Given the description of an element on the screen output the (x, y) to click on. 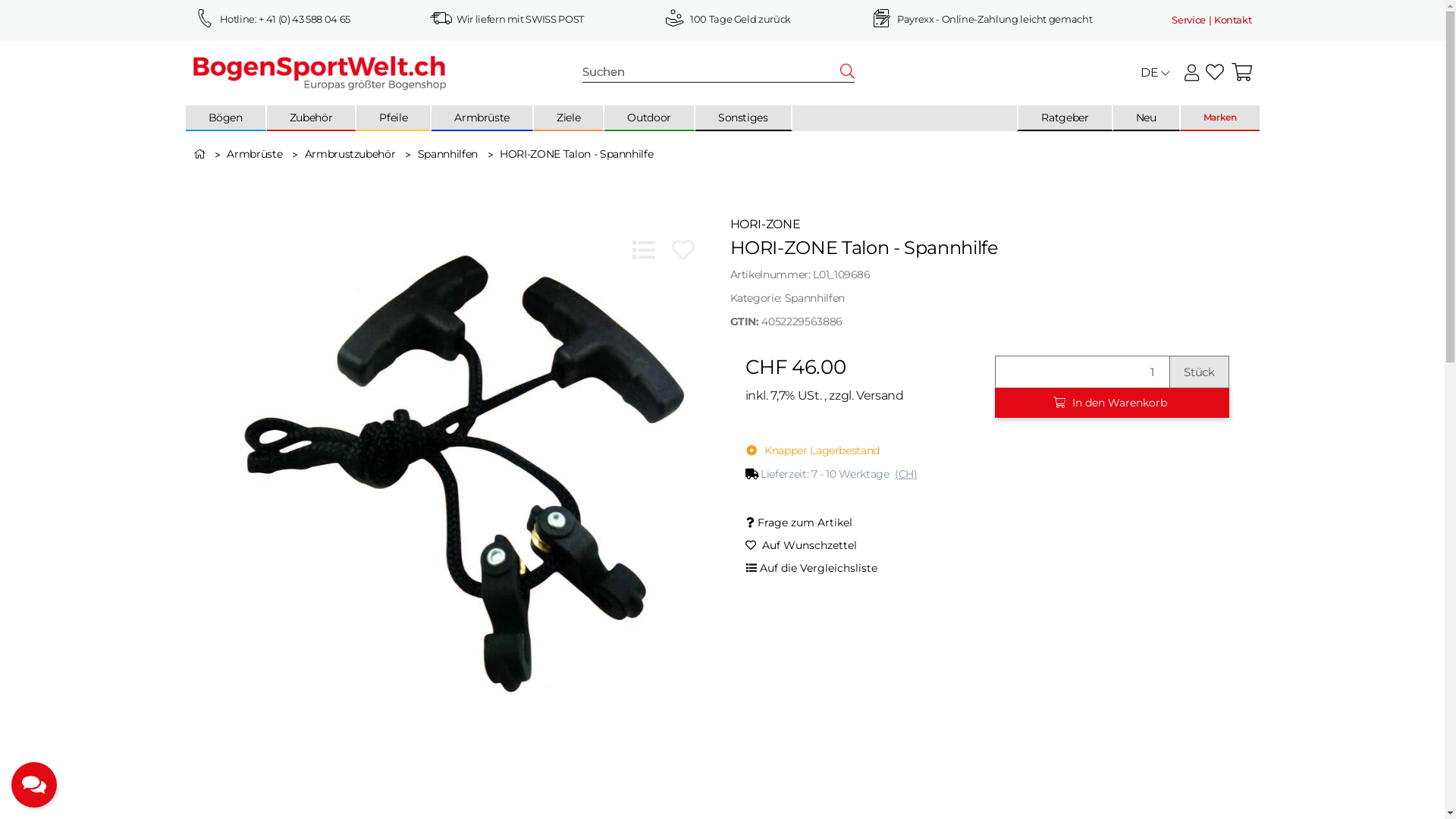
In den Warenkorb Element type: text (1111, 402)
Outdoor Element type: text (648, 117)
HORI-ZONE Talon - Spannhilfe Element type: text (575, 153)
HORI-ZONE Element type: text (986, 224)
Startseite Element type: hover (199, 153)
DE Element type: text (1154, 72)
Marken Element type: text (1219, 117)
Pfeile Element type: text (392, 117)
Auf Wunschzettel Element type: text (800, 545)
Ziele Element type: text (567, 117)
Ratgeber Element type: text (1064, 117)
Auf die Vergleichsliste Element type: text (810, 568)
Service | Kontakt Element type: text (1211, 19)
Versand Element type: text (879, 395)
Spannhilfen Element type: text (448, 153)
Spannhilfen Element type: text (814, 297)
BogenSportWelt.de Element type: hover (318, 71)
Neu Element type: text (1146, 117)
Frage zum Artikel Element type: text (798, 522)
Sonstiges Element type: text (742, 117)
